Given the description of an element on the screen output the (x, y) to click on. 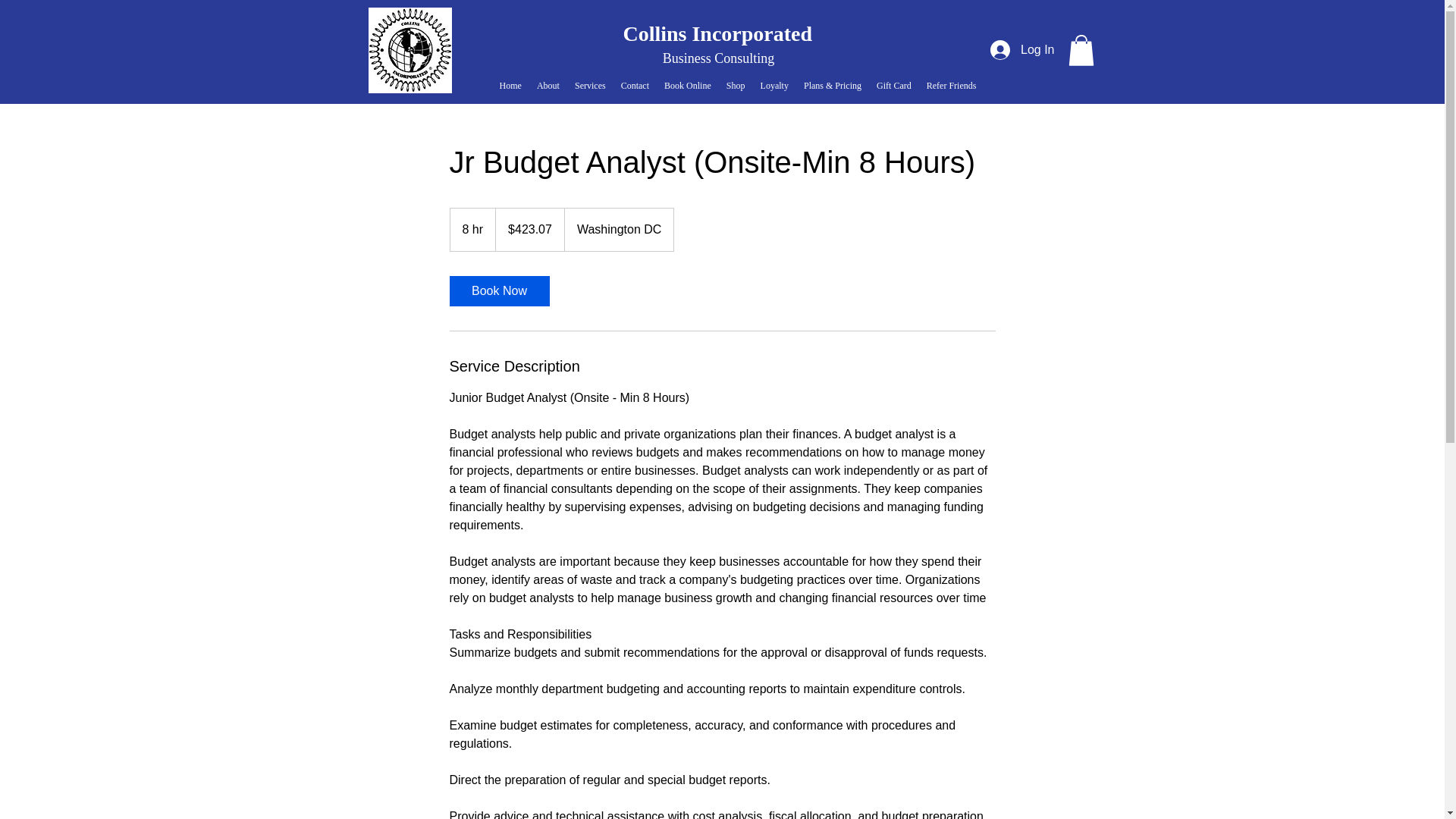
Shop (735, 85)
Contact (634, 85)
Home (510, 85)
Services (589, 85)
Gift Card (893, 85)
Book Now (498, 291)
About (548, 85)
Log In (1021, 50)
Loyalty (774, 85)
Book Online (687, 85)
